Given the description of an element on the screen output the (x, y) to click on. 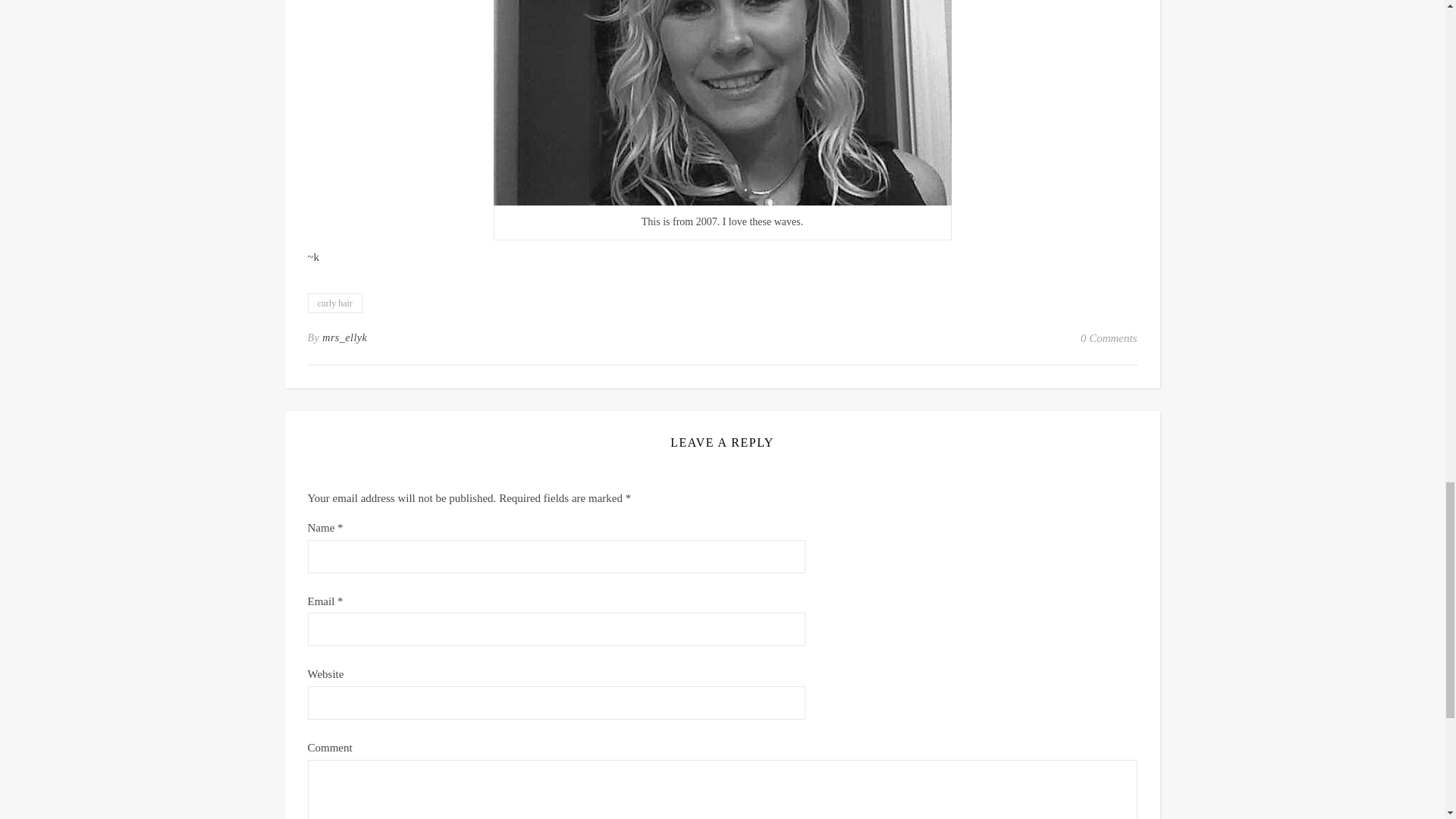
0 Comments (1108, 337)
curly hair (334, 302)
